Given the description of an element on the screen output the (x, y) to click on. 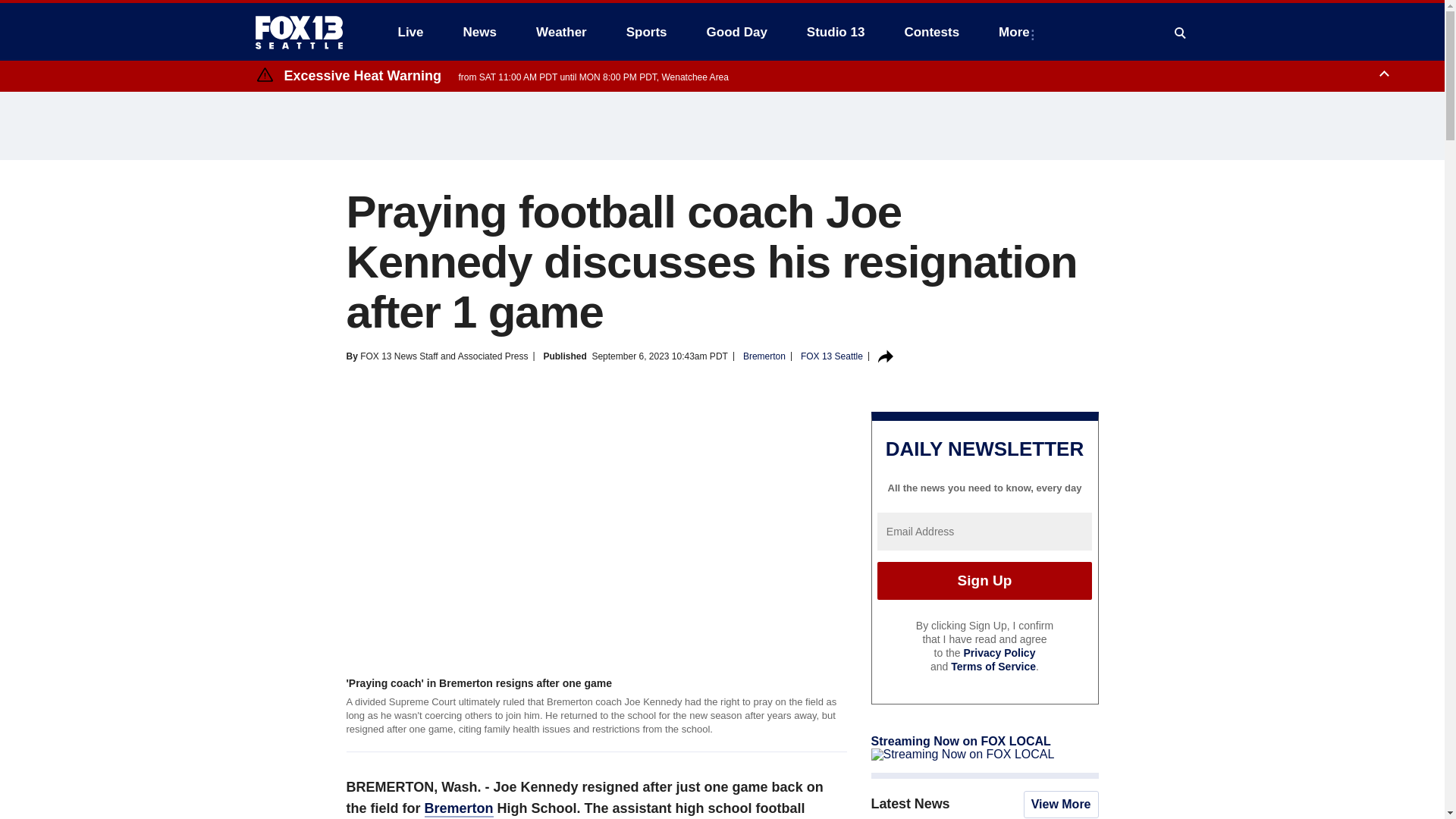
Studio 13 (835, 32)
Sign Up (984, 580)
Weather (561, 32)
Sports (646, 32)
More (1017, 32)
News (479, 32)
Live (410, 32)
Contests (931, 32)
Good Day (736, 32)
